Given the description of an element on the screen output the (x, y) to click on. 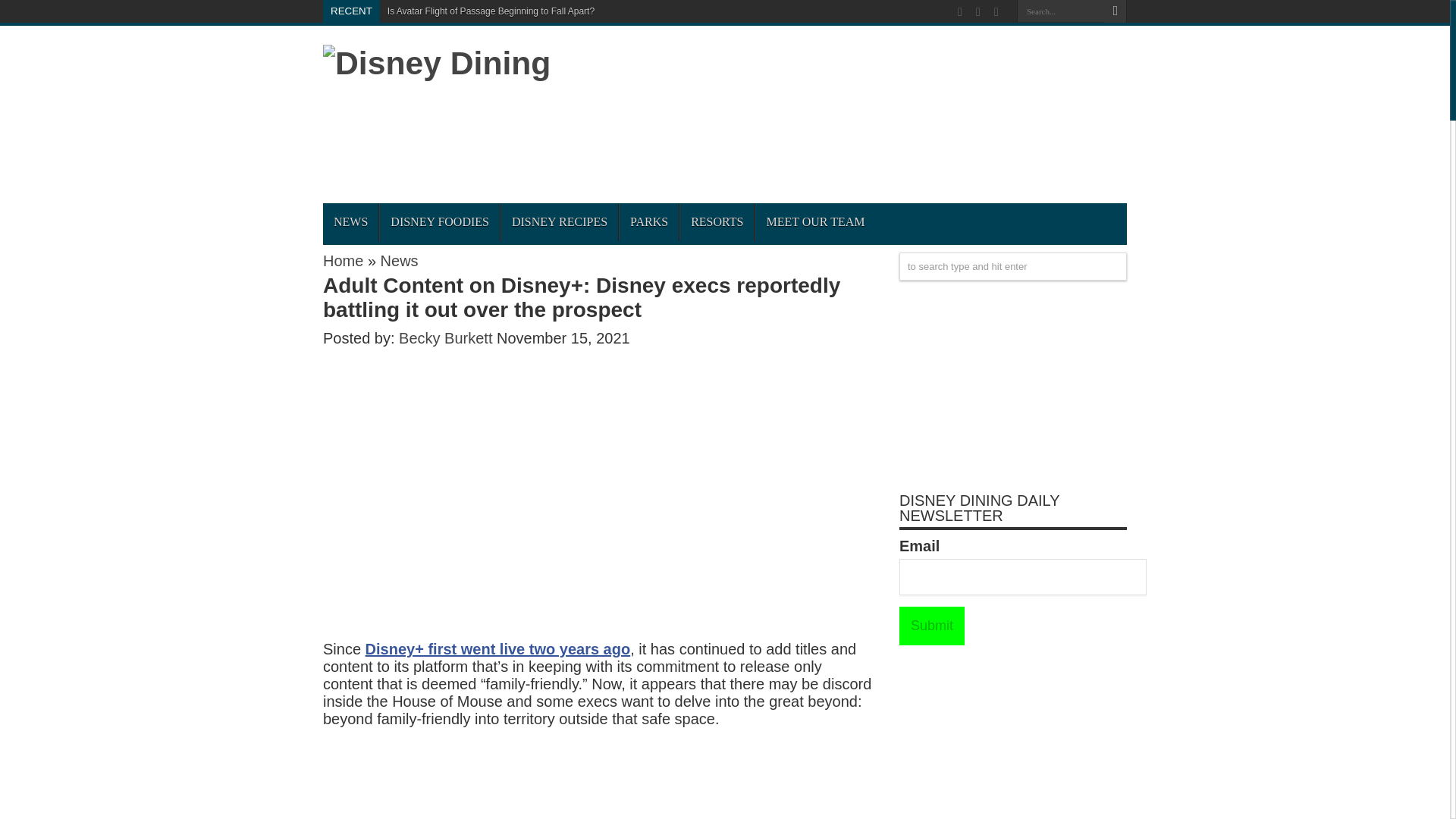
Search... (1059, 11)
MEET OUR TEAM (814, 221)
News (399, 260)
PARKS (648, 221)
to search type and hit enter (1012, 266)
NEWS (350, 221)
Is Avatar Flight of Passage Beginning to Fall Apart? (490, 11)
Is Avatar Flight of Passage Beginning to Fall Apart? (490, 11)
Search (1114, 11)
DISNEY RECIPES (558, 221)
